Given the description of an element on the screen output the (x, y) to click on. 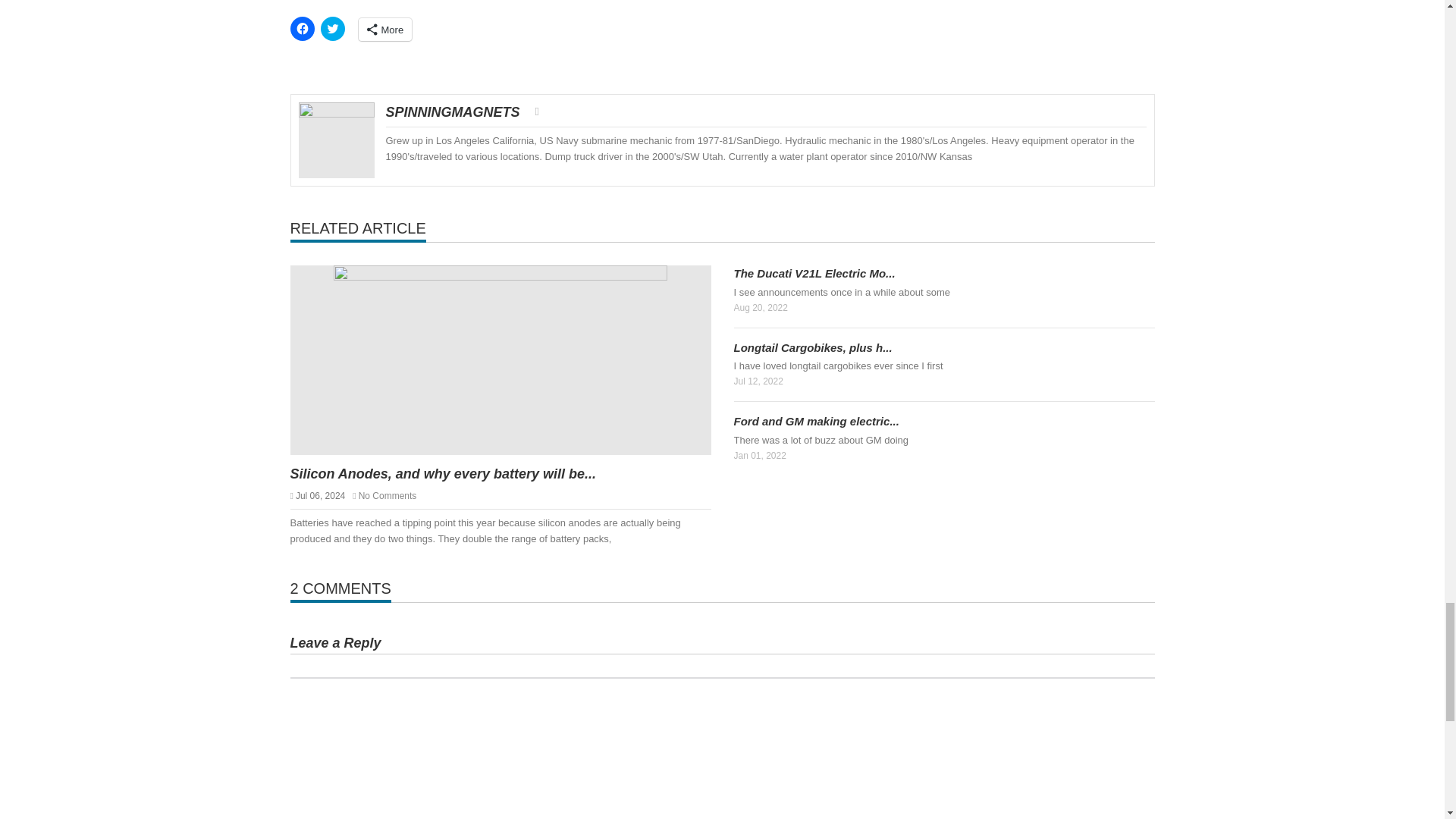
email (536, 111)
Click to share on Facebook (301, 28)
Click to share on Twitter (331, 28)
